Given the description of an element on the screen output the (x, y) to click on. 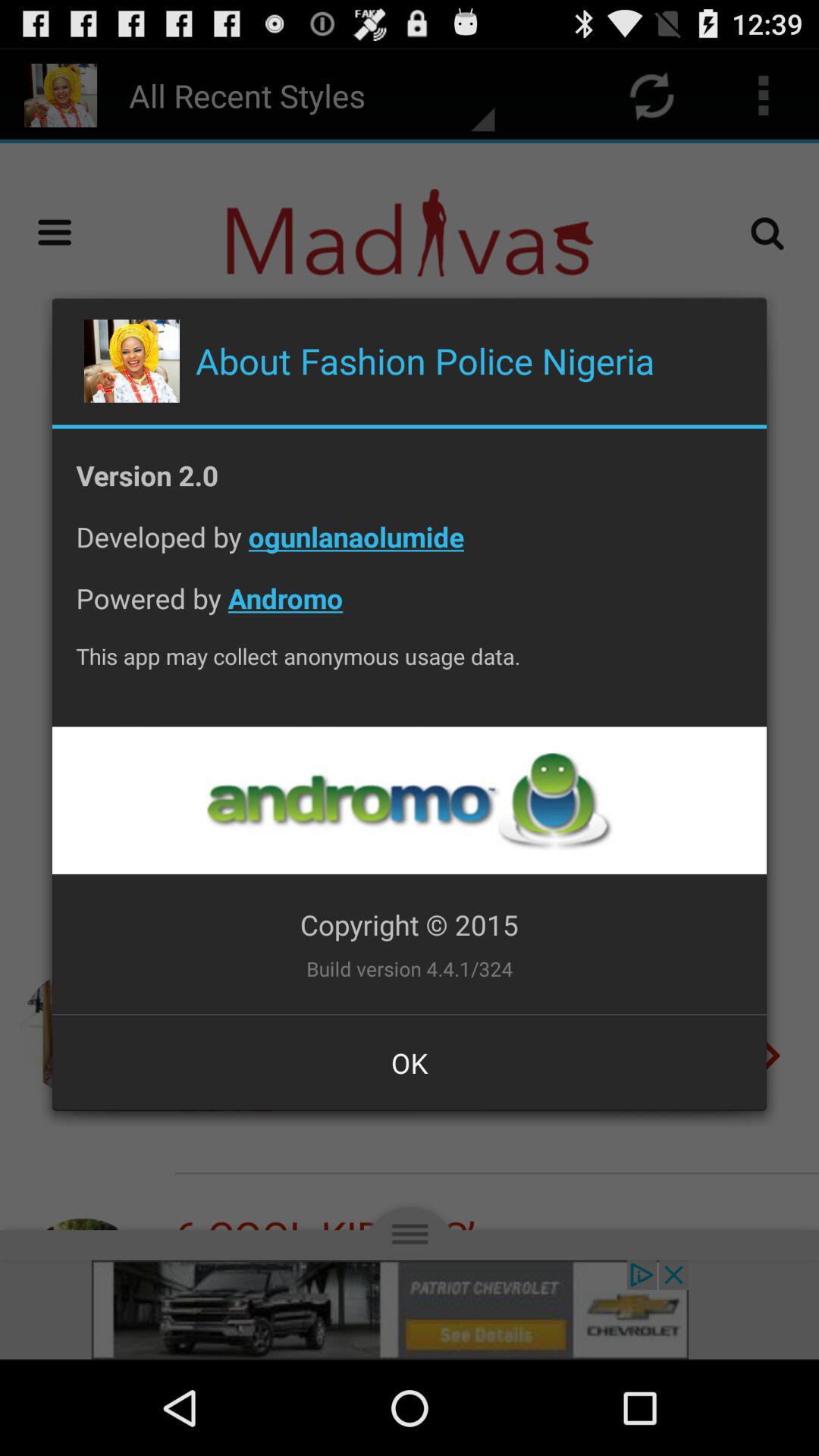
turn on developed by ogunlanaolumide (409, 548)
